Given the description of an element on the screen output the (x, y) to click on. 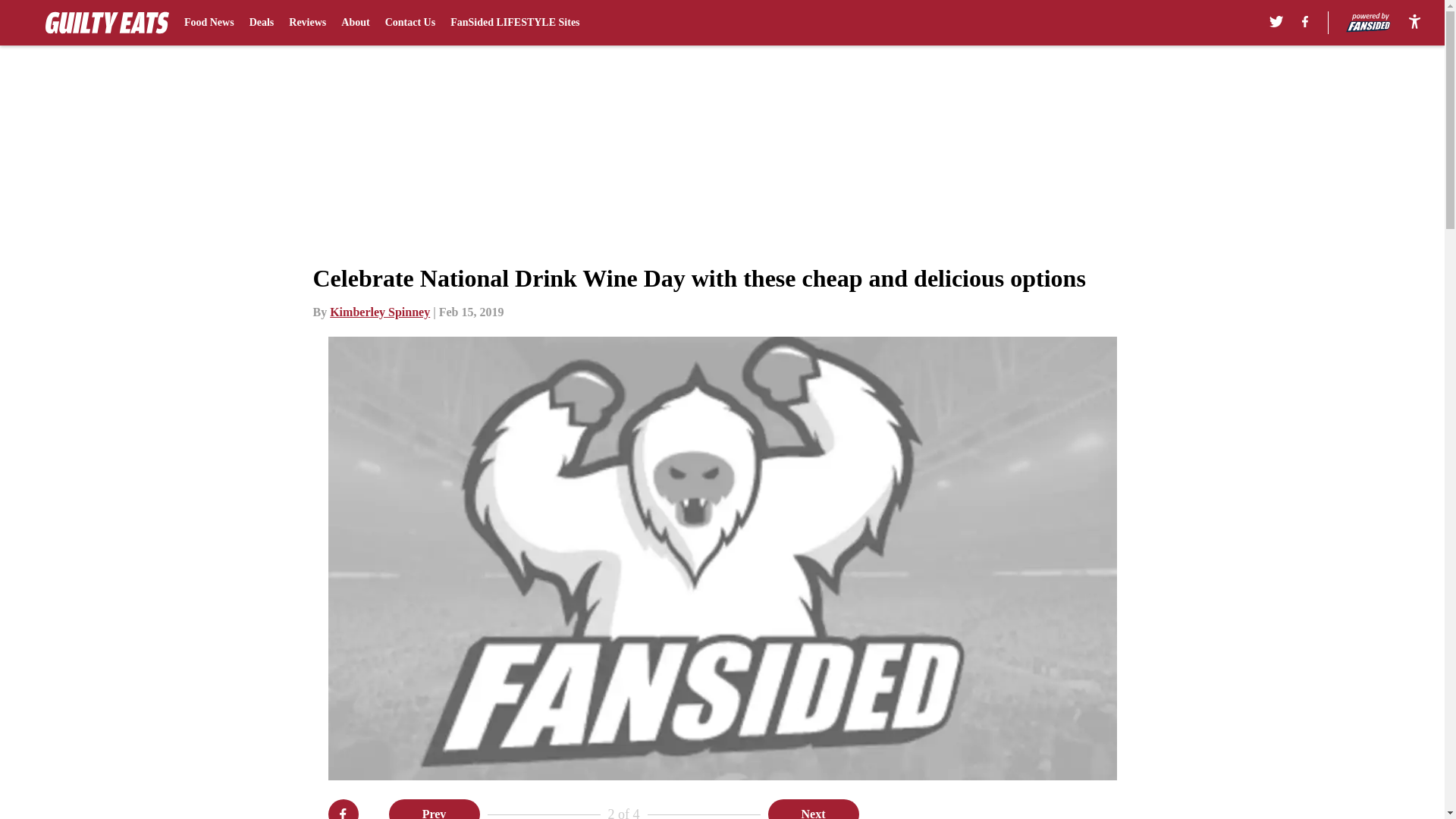
About (354, 22)
Reviews (307, 22)
Prev (433, 809)
Kimberley Spinney (379, 311)
Contact Us (410, 22)
Next (813, 809)
Deals (261, 22)
FanSided LIFESTYLE Sites (514, 22)
Food News (209, 22)
